Given the description of an element on the screen output the (x, y) to click on. 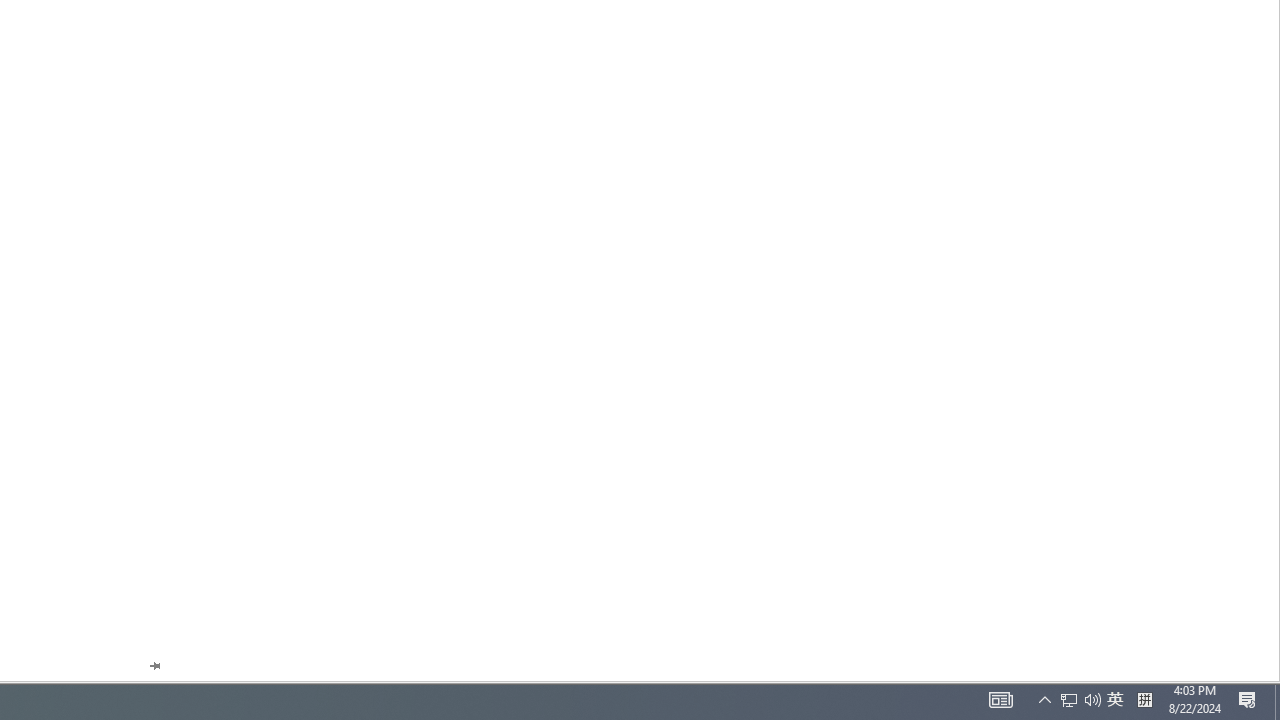
Pin the Dock (Windows logo key+Shift+I) (154, 665)
